Given the description of an element on the screen output the (x, y) to click on. 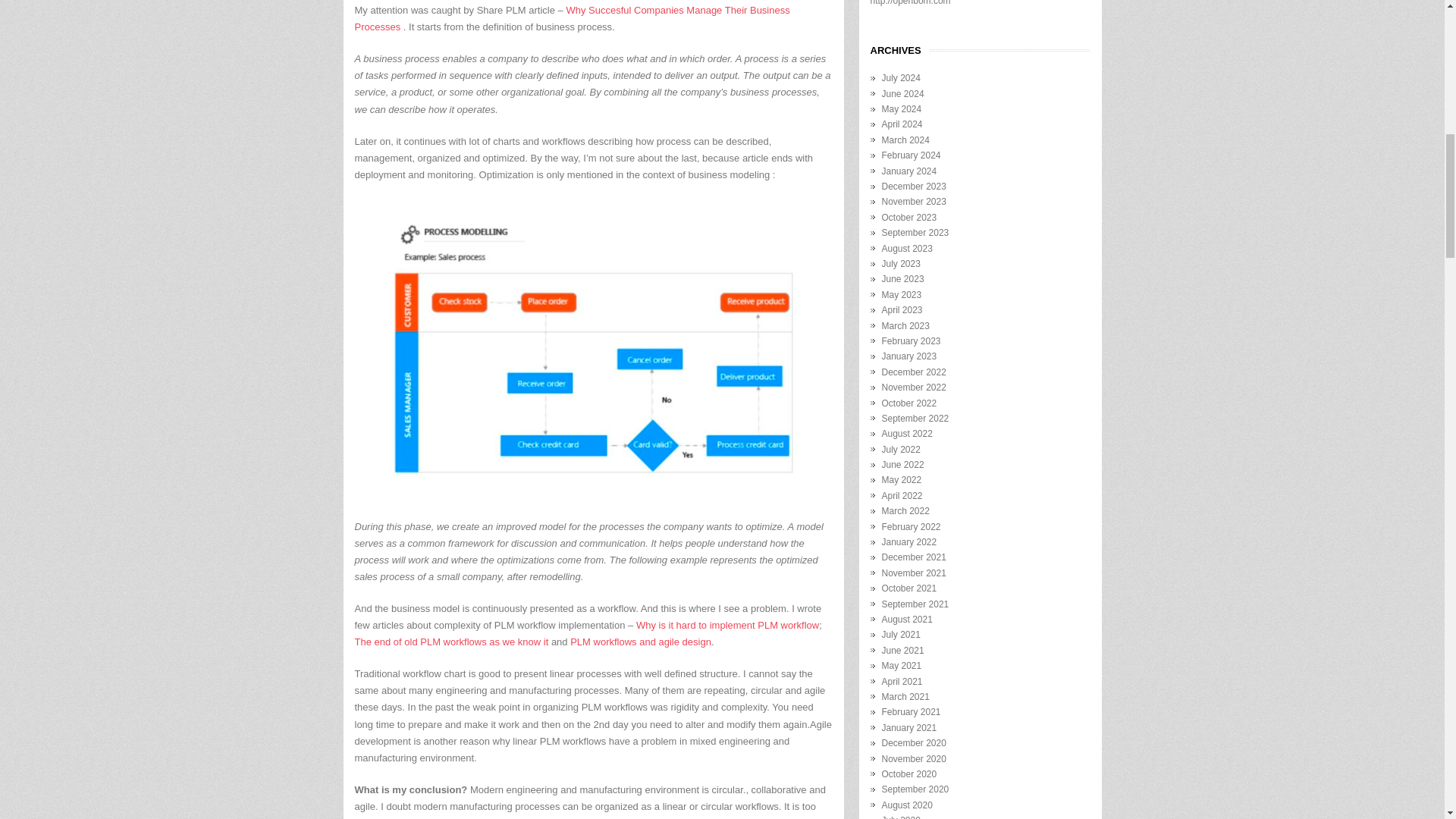
Why Succesful Companies Manage Their Business Processes (572, 18)
The end of old PLM workflows as we know it (451, 641)
Why is it hard to implement PLM workflow (727, 624)
PLM workflows and agile design (640, 641)
